Given the description of an element on the screen output the (x, y) to click on. 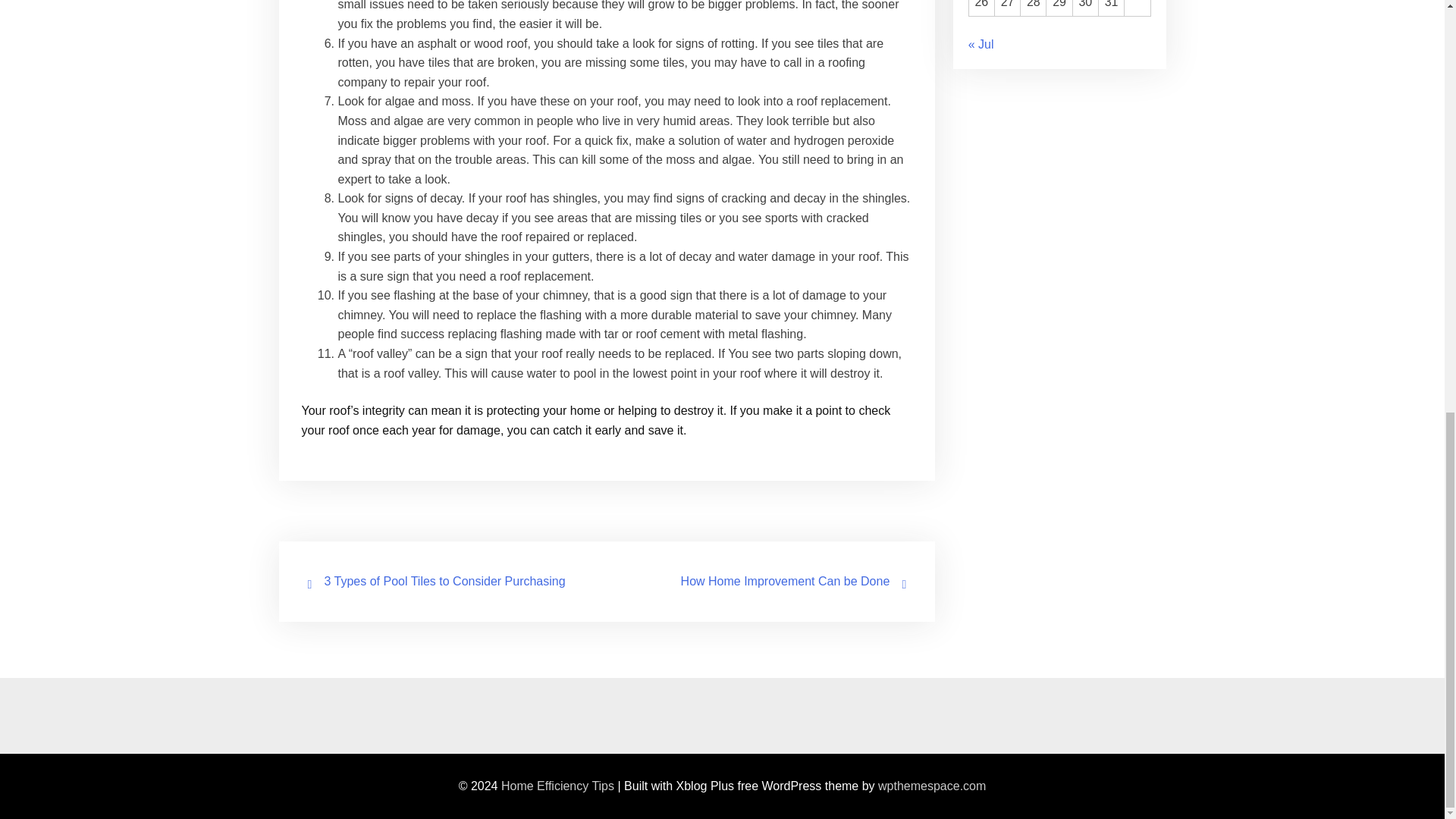
How Home Improvement Can be Done (785, 581)
3 Types of Pool Tiles to Consider Purchasing (445, 581)
wpthemespace.com (931, 786)
Home Efficiency Tips (557, 786)
